Given the description of an element on the screen output the (x, y) to click on. 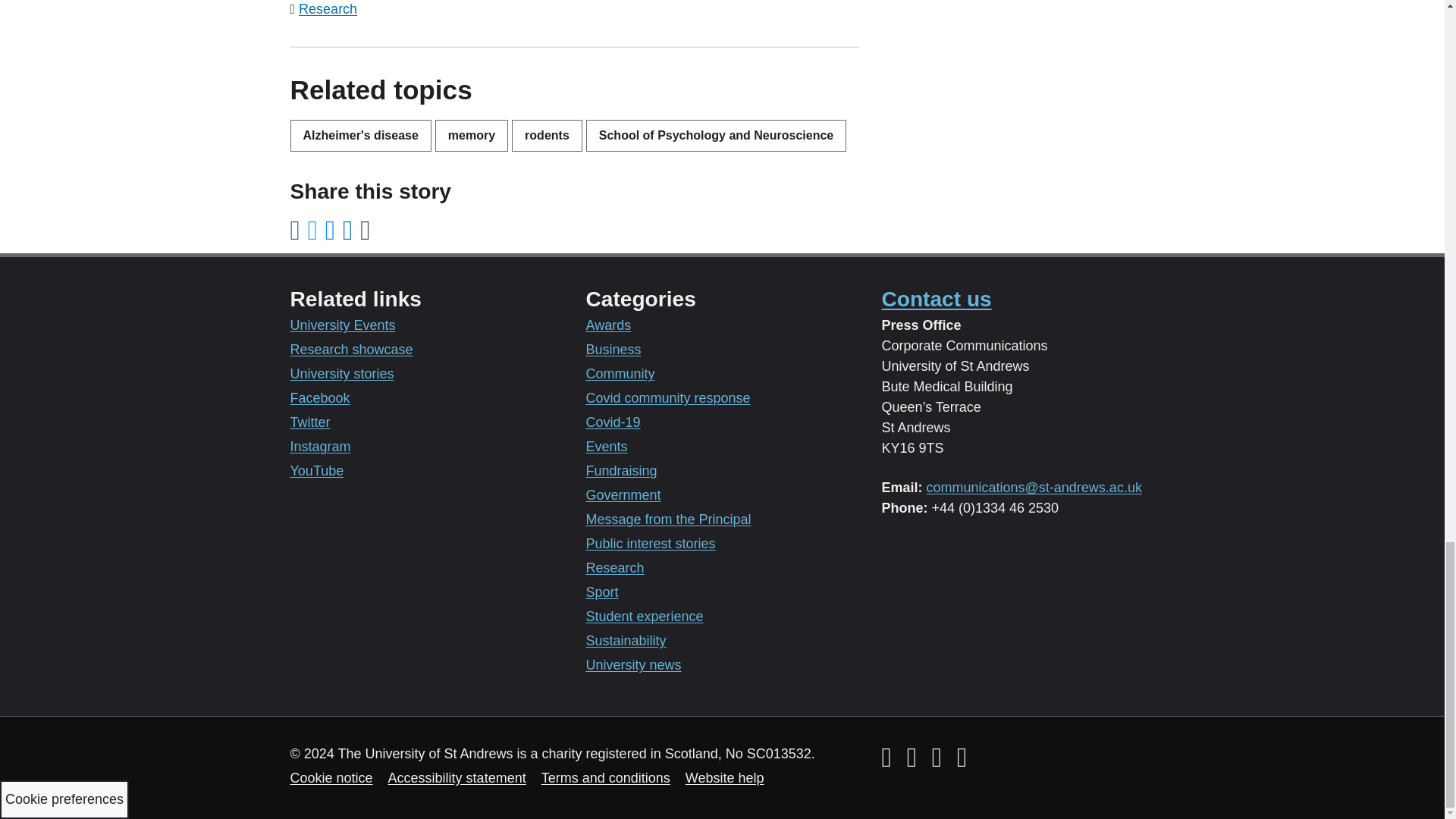
rodents (547, 135)
School of Psychology and Neuroscience (715, 135)
Research (327, 8)
Alzheimer's disease (359, 135)
memory (471, 135)
